Given the description of an element on the screen output the (x, y) to click on. 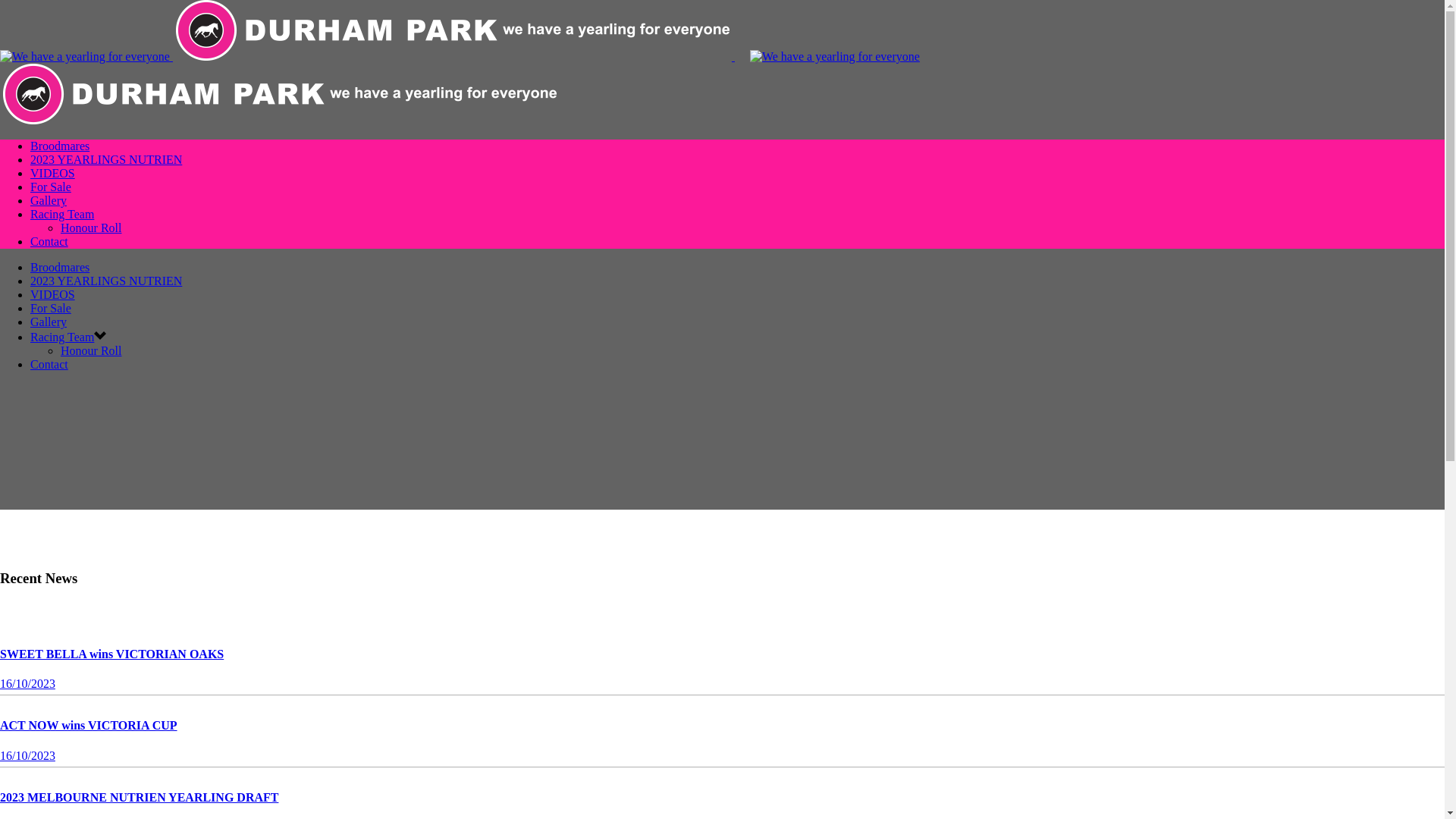
Racing Team Element type: text (62, 336)
For Sale Element type: text (50, 186)
Broodmares Element type: text (59, 266)
VIDEOS Element type: text (52, 172)
Contact Element type: text (49, 363)
Contact Element type: text (49, 241)
Gallery Element type: text (48, 321)
16/10/2023 Element type: text (27, 683)
Broodmares Element type: text (59, 145)
We have a yearling for everyone Element type: hover (834, 56)
Durham Park Element type: hover (459, 88)
SWEET BELLA wins VICTORIAN OAKS Element type: text (111, 653)
Racing Team Element type: text (62, 213)
For Sale Element type: text (50, 307)
2023 MELBOURNE NUTRIEN YEARLING DRAFT Element type: text (139, 796)
Gallery Element type: text (48, 200)
Honour Roll Element type: text (90, 227)
16/10/2023 Element type: text (27, 755)
Honour Roll Element type: text (90, 350)
We have a yearling for everyone Element type: hover (84, 56)
VIDEOS Element type: text (52, 294)
2023 YEARLINGS NUTRIEN Element type: text (106, 159)
We have a yearling for everyone Element type: hover (279, 93)
We have a yearling for everyone Element type: hover (451, 30)
2023 YEARLINGS NUTRIEN Element type: text (106, 280)
ACT NOW wins VICTORIA CUP Element type: text (88, 724)
